Given the description of an element on the screen output the (x, y) to click on. 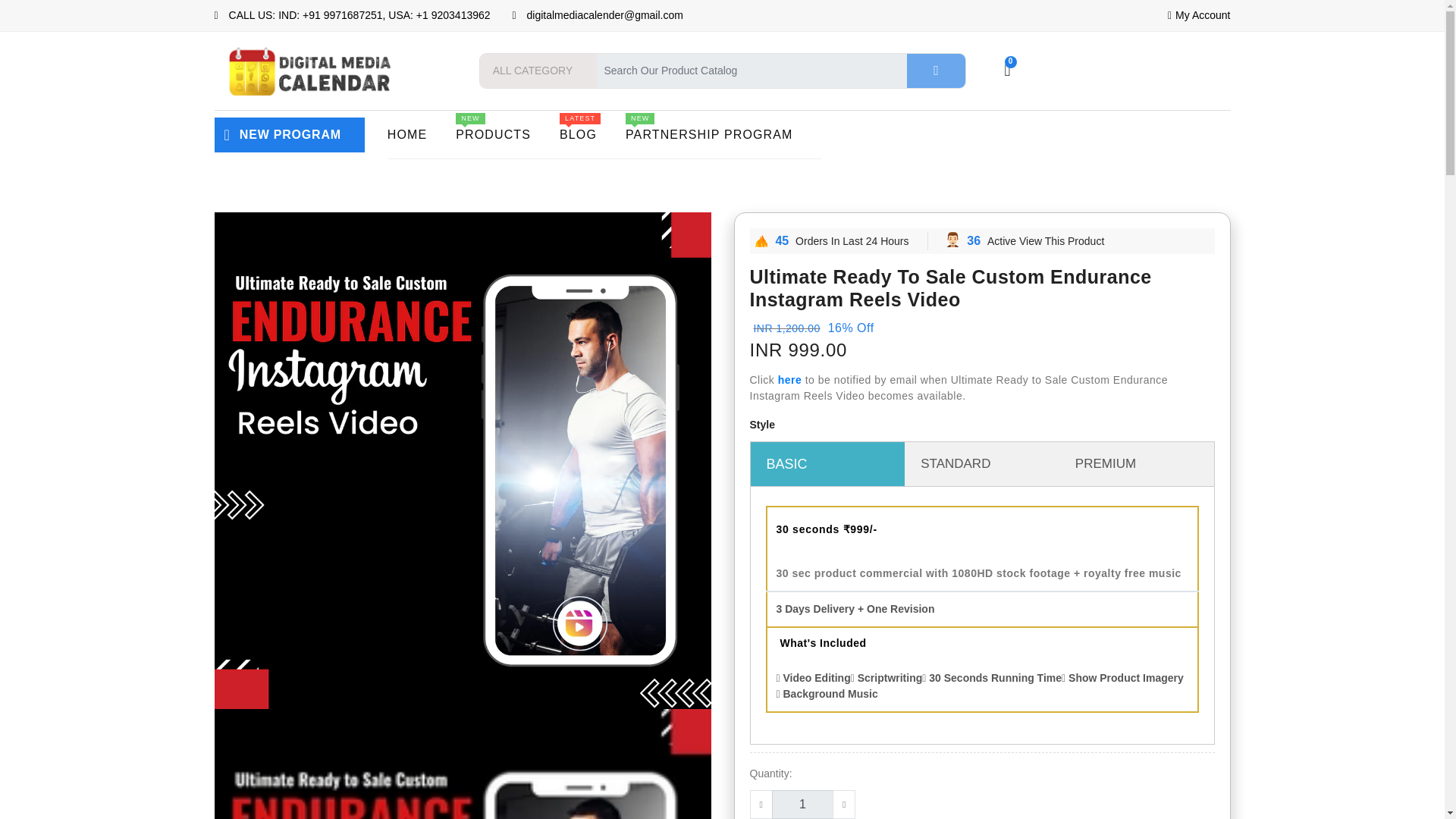
here (789, 379)
1 (801, 804)
HOME (723, 134)
